Given the description of an element on the screen output the (x, y) to click on. 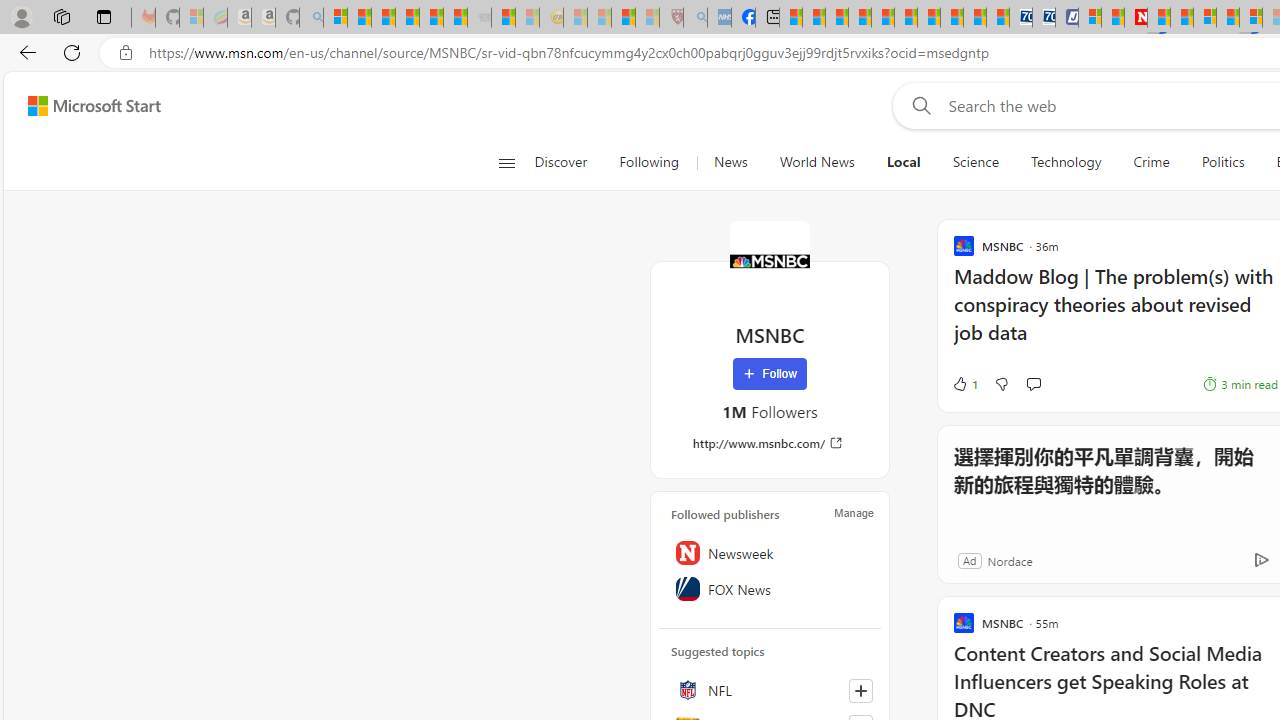
Cheap Hotels - Save70.com (1043, 17)
Latest Politics News & Archive | Newsweek.com (1135, 17)
Open navigation menu (506, 162)
FOX News (770, 588)
Follow this topic (860, 690)
Local (903, 162)
Skip to content (86, 105)
Web search (917, 105)
